Given the description of an element on the screen output the (x, y) to click on. 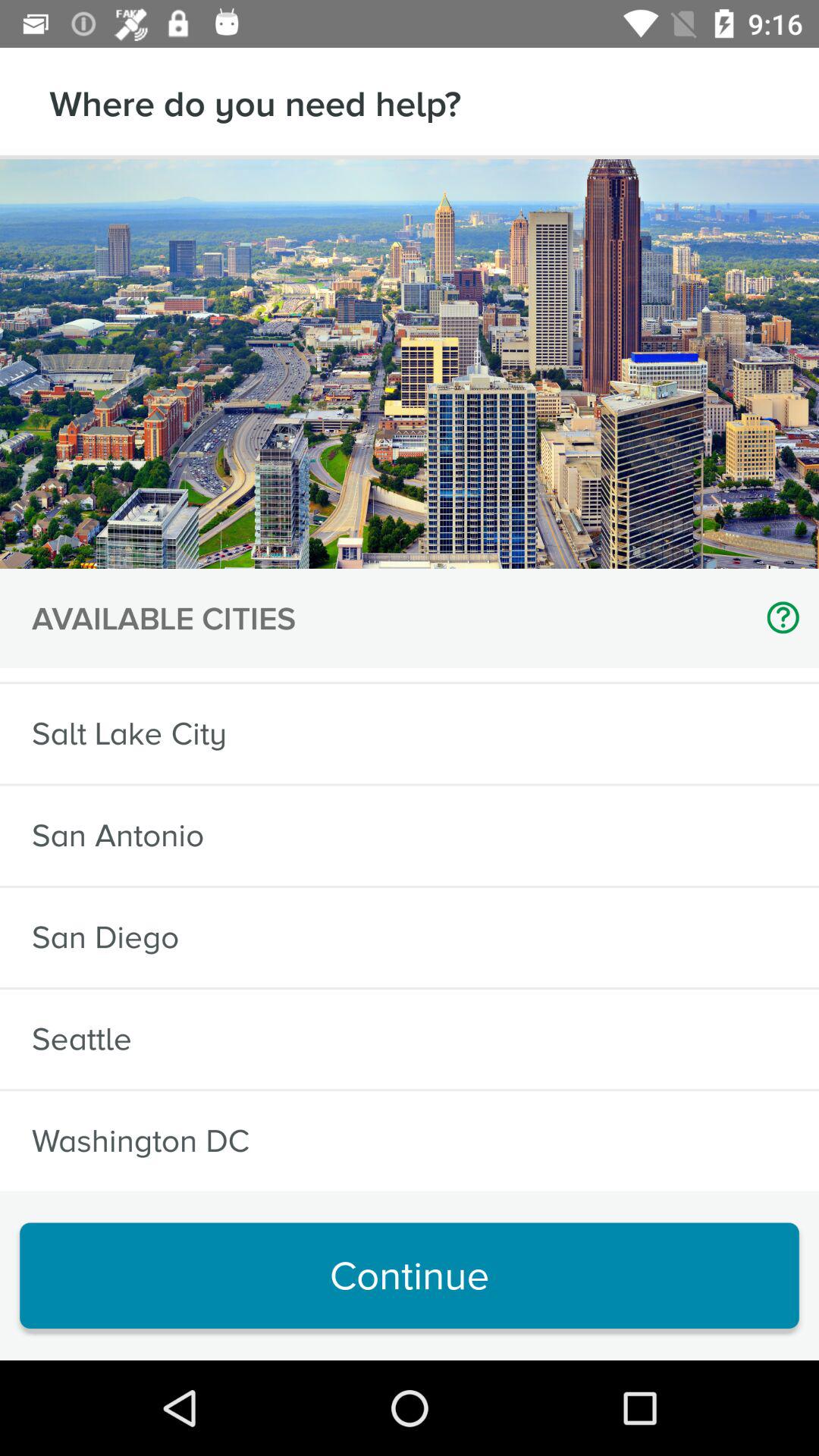
turn off icon below the available cities (119, 674)
